Given the description of an element on the screen output the (x, y) to click on. 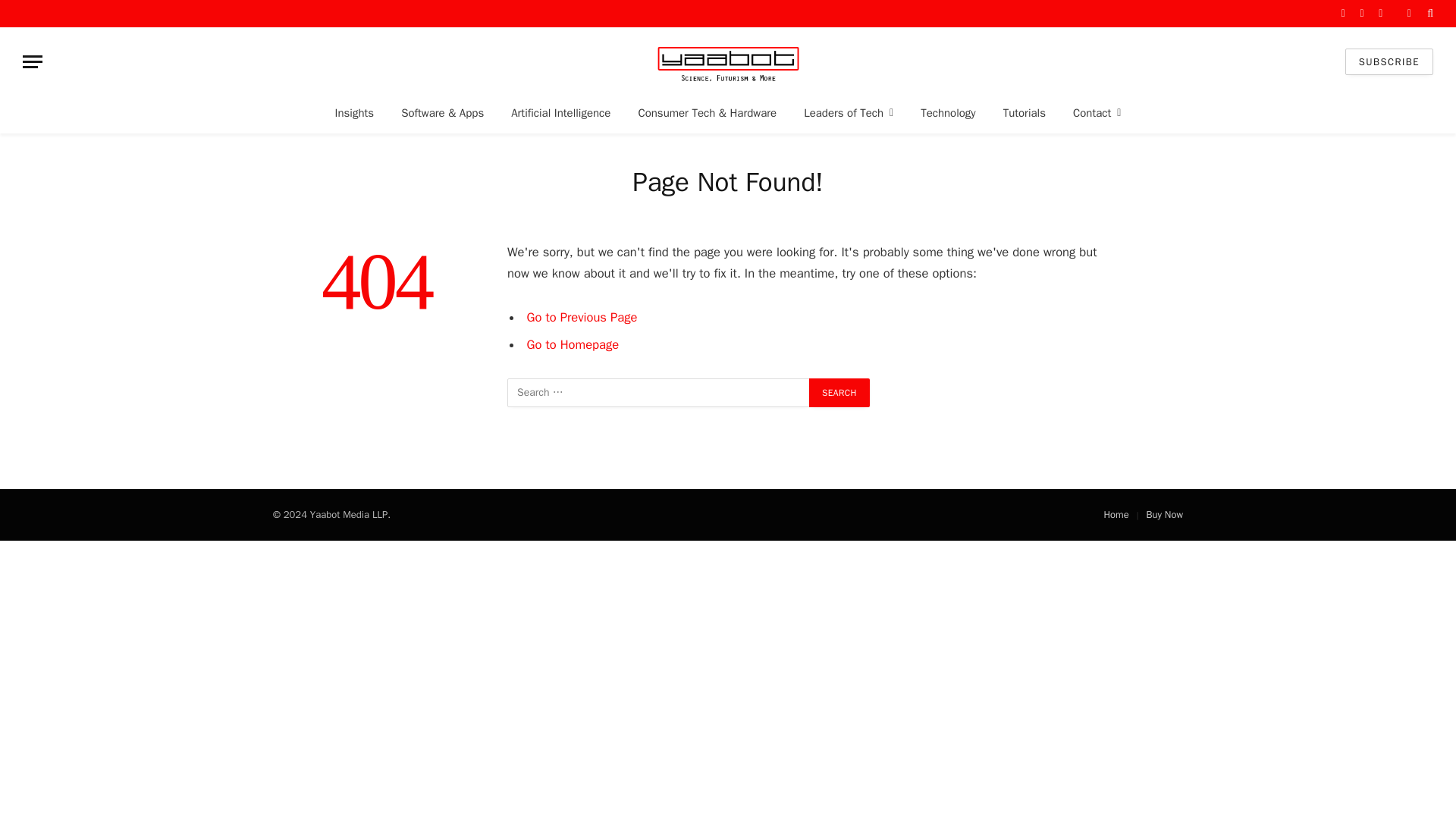
Search (839, 392)
Yaabot (727, 61)
SUBSCRIBE (1388, 61)
Artificial Intelligence (560, 112)
Contact (1096, 112)
Technology (948, 112)
Search (839, 392)
Switch to Dark Design - easier on eyes. (1408, 13)
Leaders of Tech (848, 112)
Insights (354, 112)
